Given the description of an element on the screen output the (x, y) to click on. 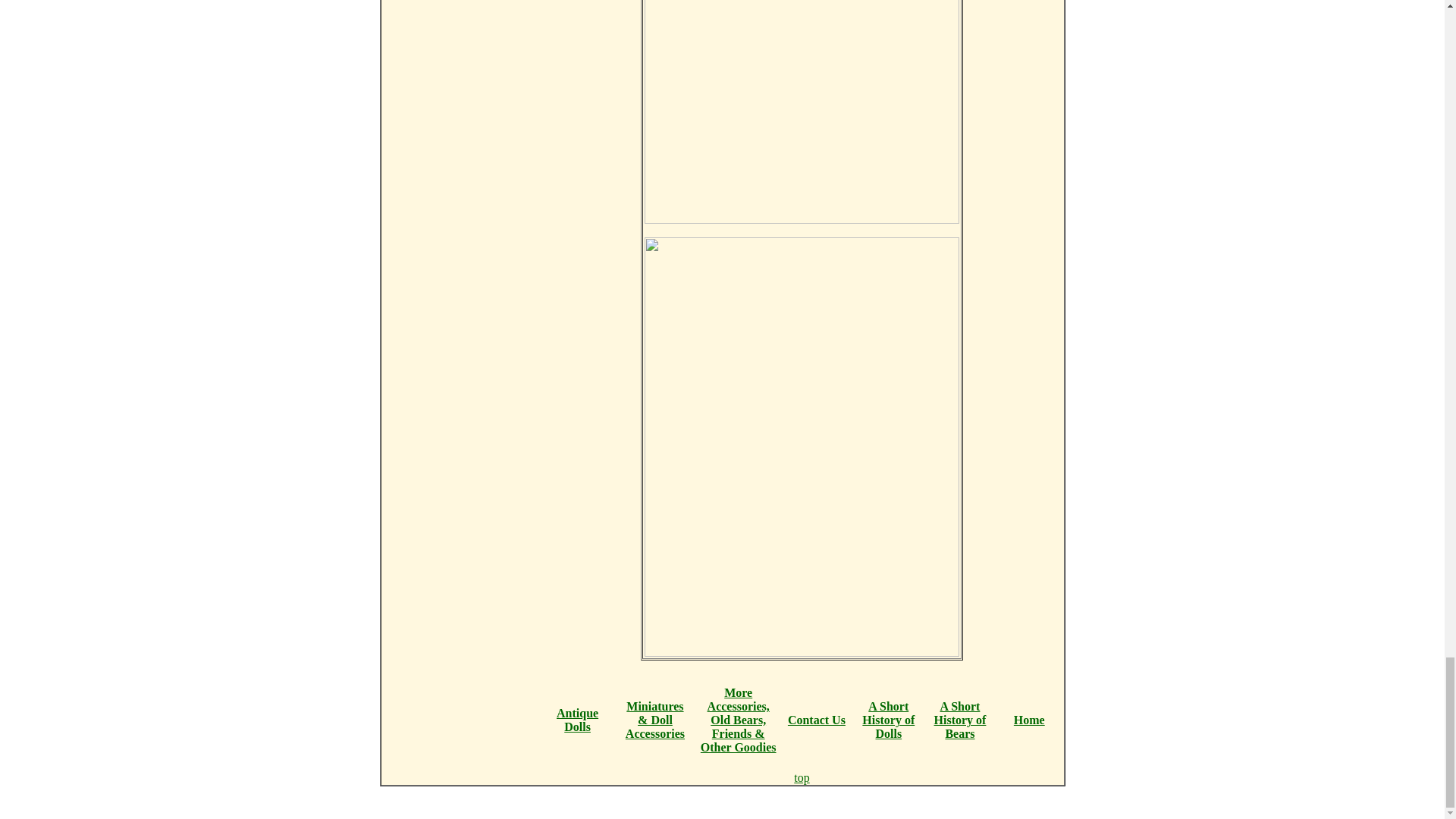
top (801, 777)
Contact Us (816, 719)
Antique Dolls (577, 719)
A Short History of Bears (960, 720)
A Short History of Dolls (887, 720)
Home (1029, 719)
More Accessories, Old Bears, (738, 706)
